Given the description of an element on the screen output the (x, y) to click on. 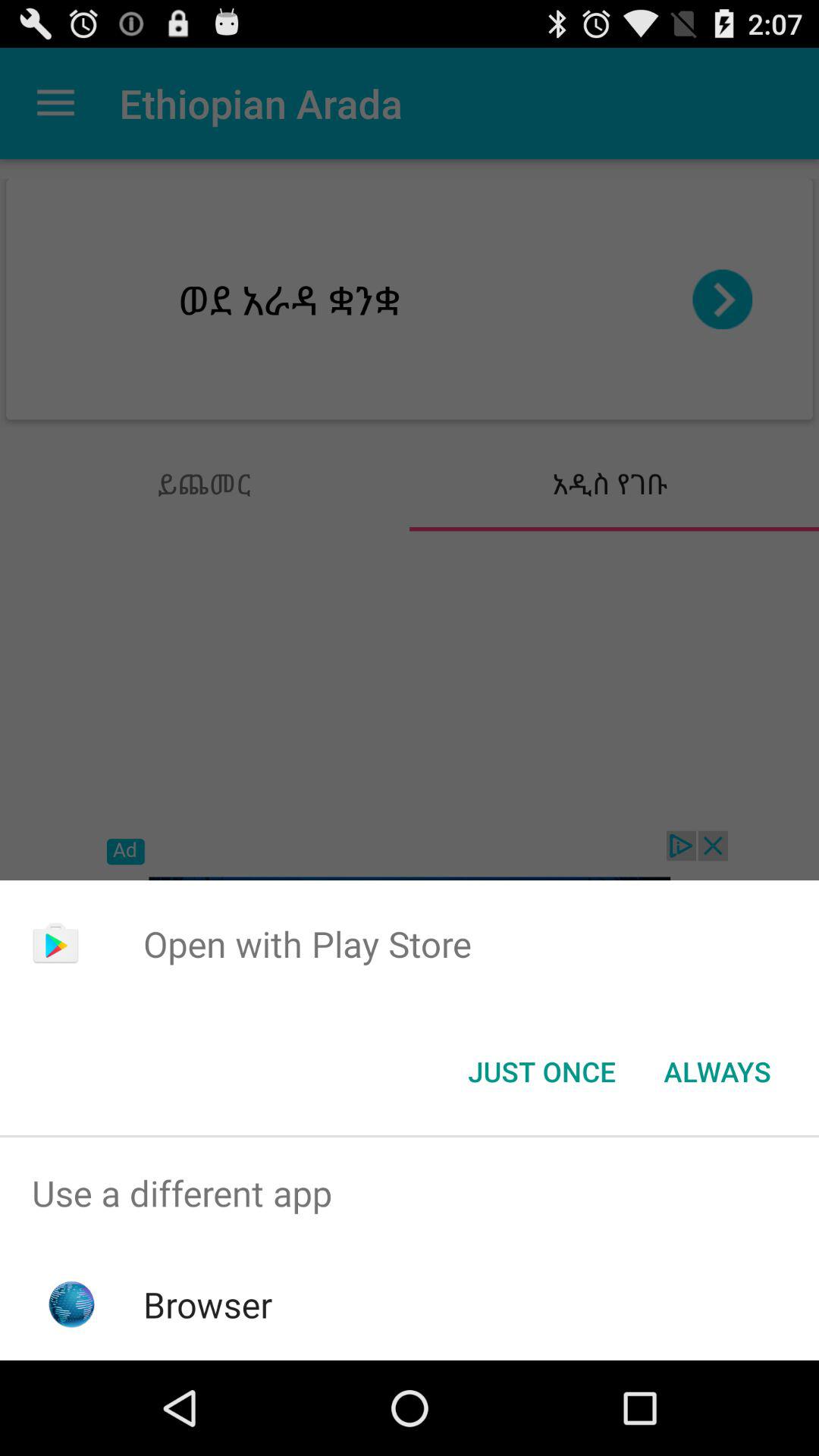
choose always item (717, 1071)
